Given the description of an element on the screen output the (x, y) to click on. 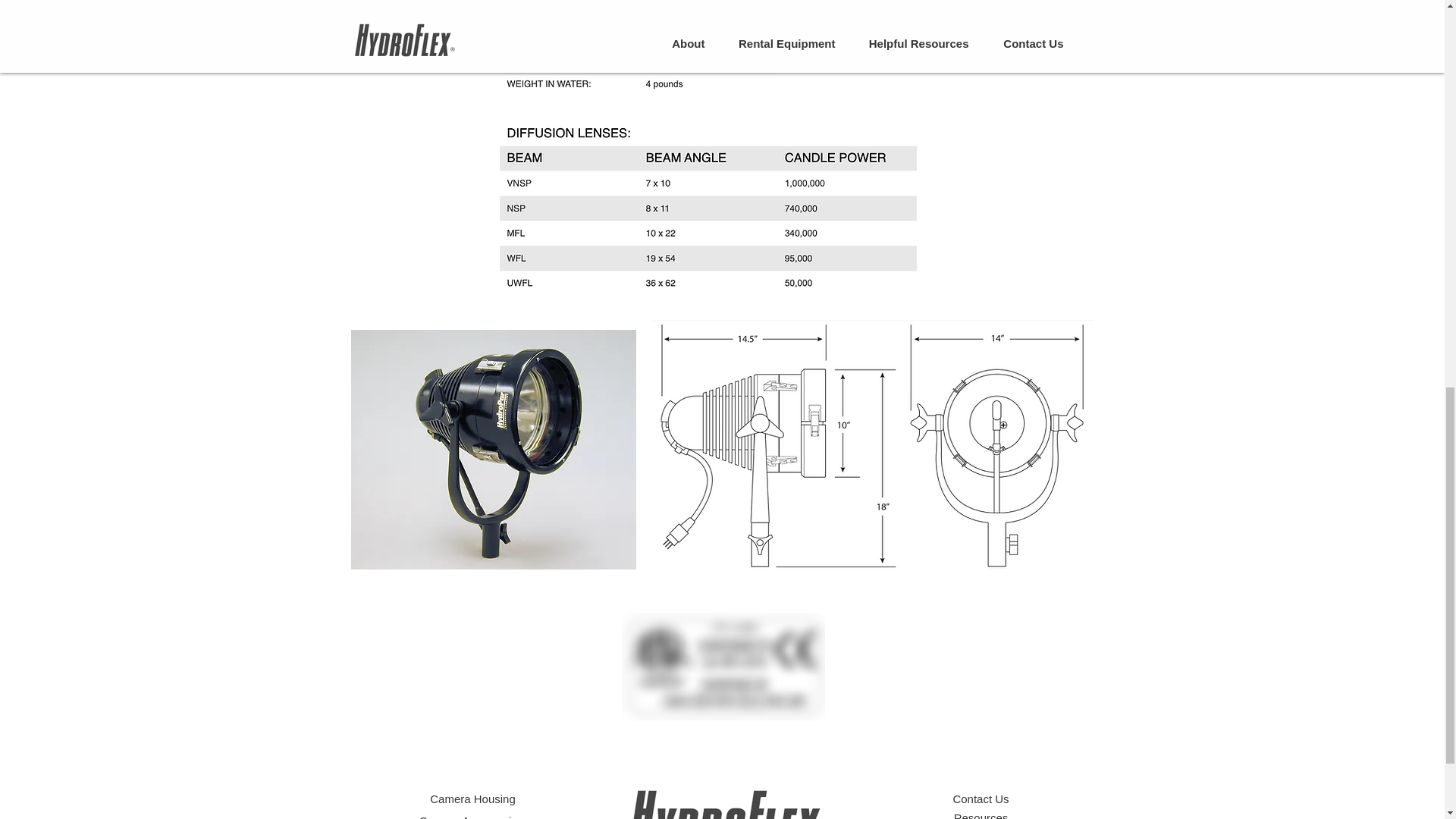
Camera Housing (472, 798)
Resources (981, 815)
Camera Accessories  (473, 816)
Contact Us (980, 798)
